Given the description of an element on the screen output the (x, y) to click on. 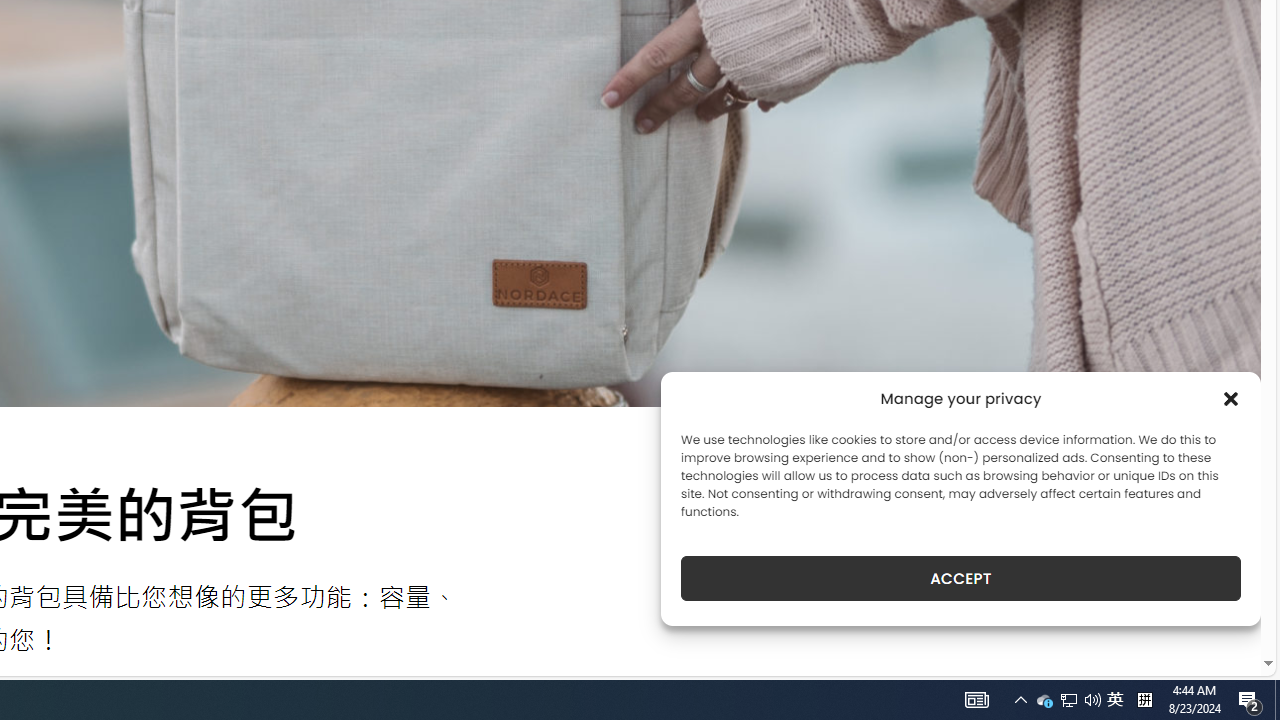
ACCEPT (960, 578)
Class: cmplz-close (1231, 398)
